Given the description of an element on the screen output the (x, y) to click on. 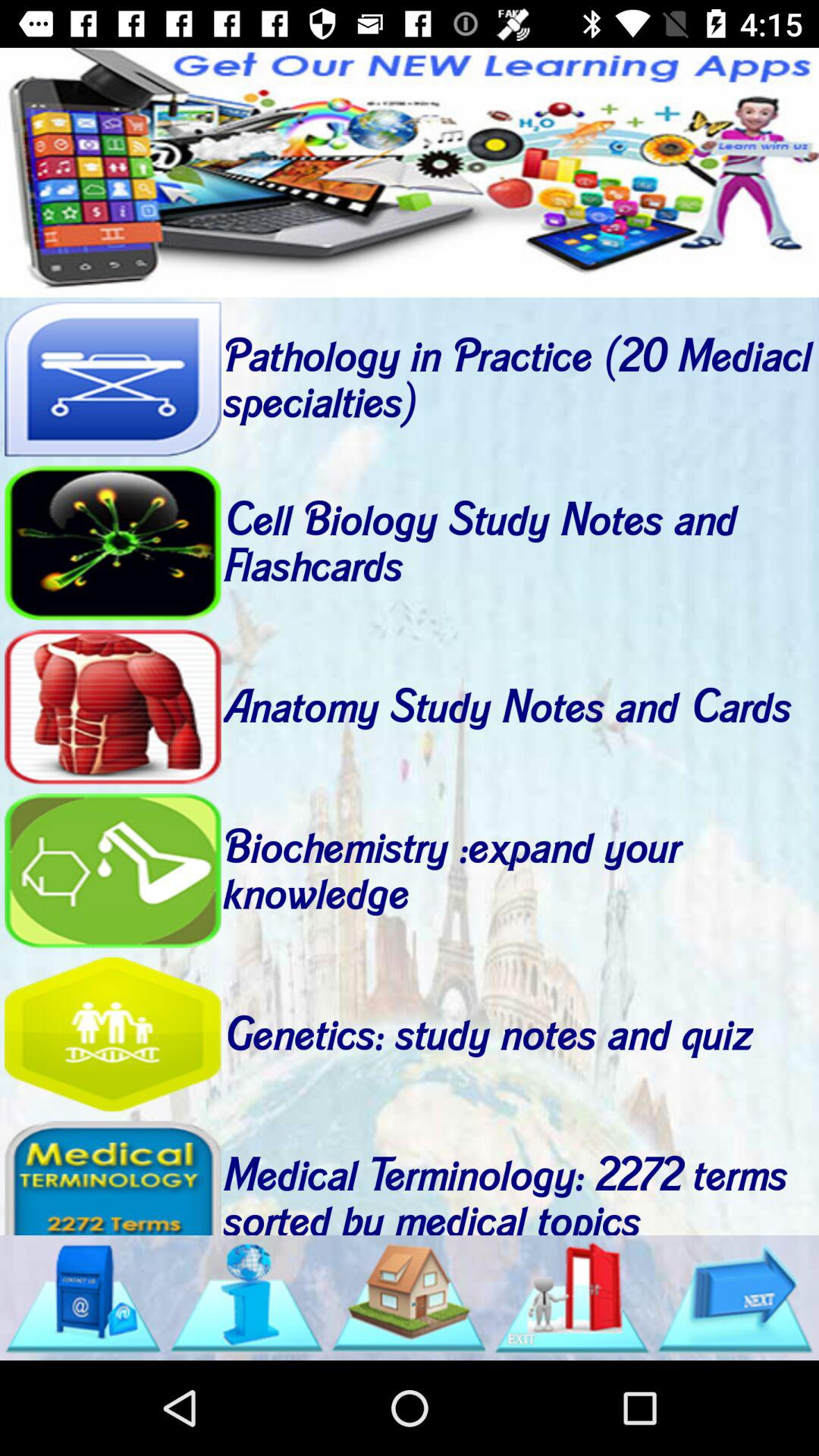
next option (734, 1297)
